Given the description of an element on the screen output the (x, y) to click on. 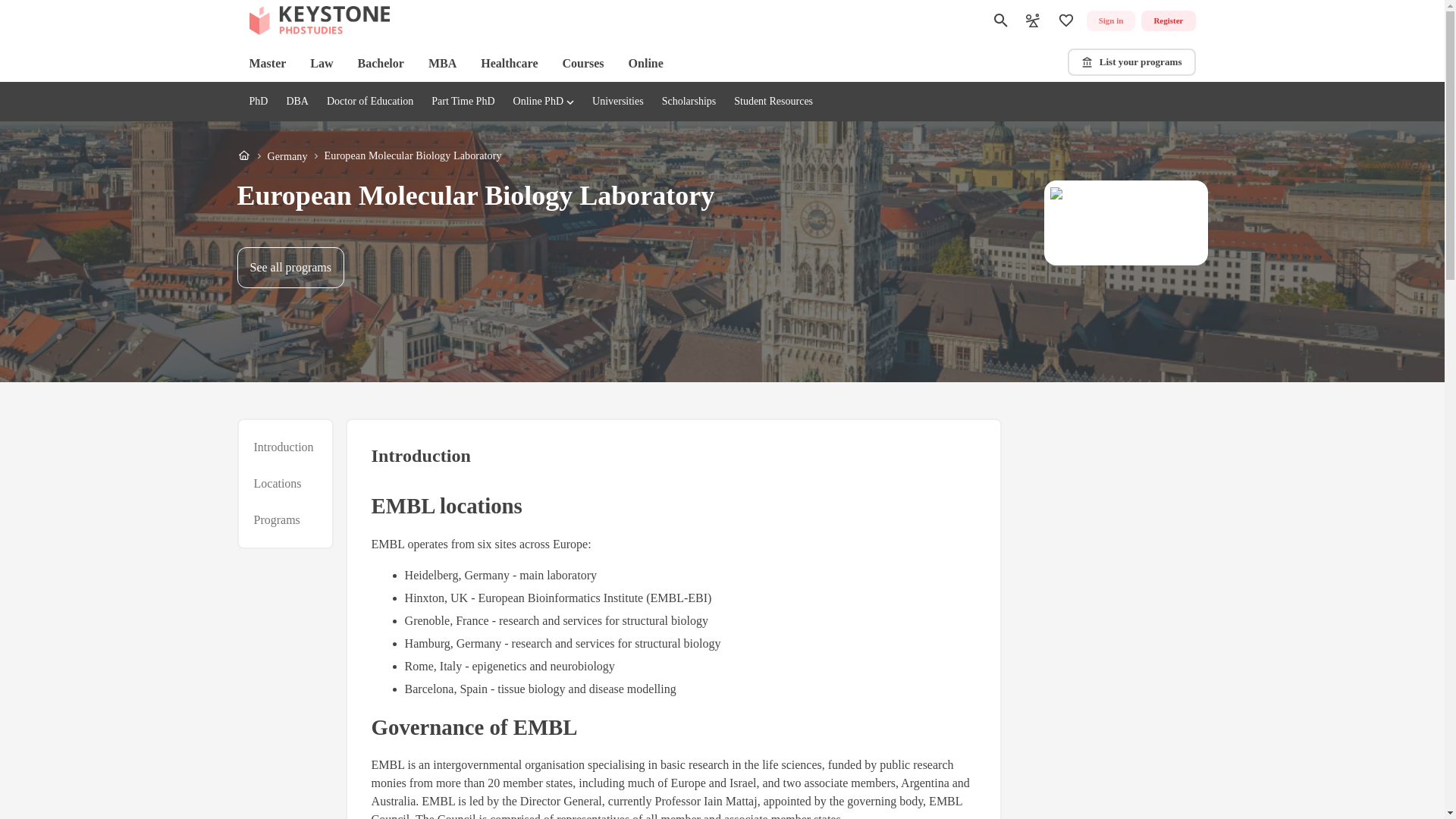
Sign in (1110, 20)
Universities (617, 101)
Bachelor (381, 63)
Scholarships (689, 101)
Online (645, 63)
DBA (296, 101)
Germany (286, 156)
List your programs (367, 156)
PhD (1131, 62)
